Given the description of an element on the screen output the (x, y) to click on. 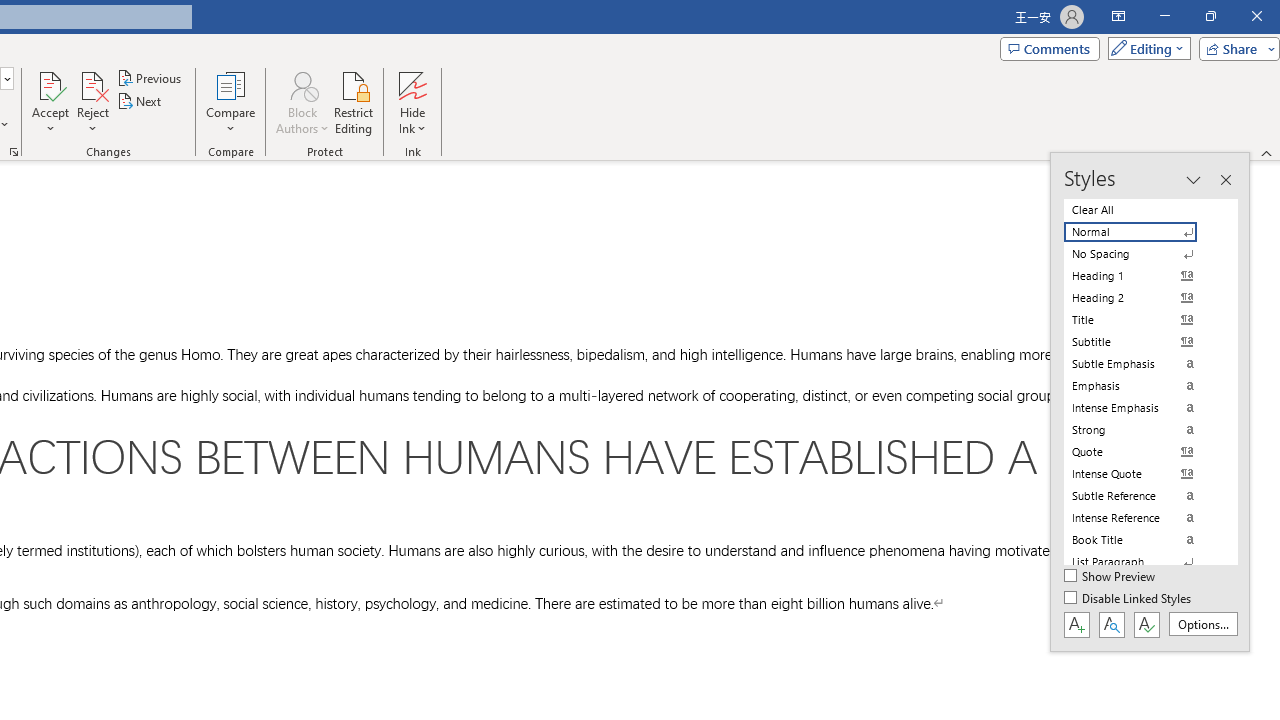
Normal (1142, 232)
Intense Quote (1142, 473)
Block Authors (302, 102)
Intense Emphasis (1142, 407)
Restrict Editing (353, 102)
Next (140, 101)
Change Tracking Options... (13, 151)
Reject and Move to Next (92, 84)
Clear All (1142, 209)
Emphasis (1142, 385)
Strong (1142, 429)
Intense Reference (1142, 517)
